Given the description of an element on the screen output the (x, y) to click on. 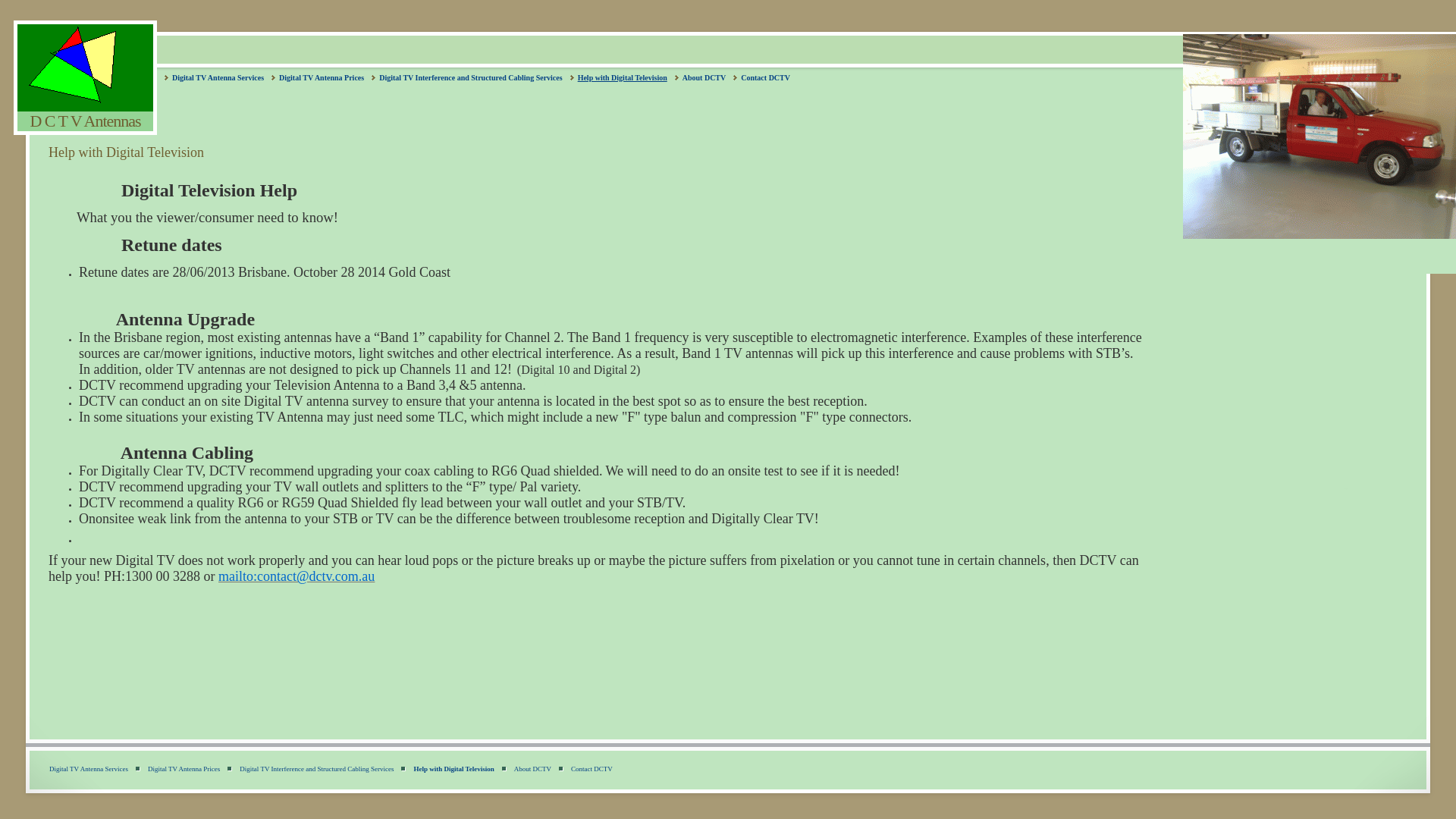
About DCTV Element type: text (532, 767)
Digital TV Antenna Prices Element type: text (321, 77)
Digital TV Antenna Prices Element type: text (183, 767)
Digital TV Antenna Services Element type: text (88, 767)
Contact DCTV Element type: text (765, 77)
Help with Digital Television Element type: text (453, 767)
Contact DCTV Element type: text (591, 767)
Digital TV Interference and Structured Cabling Services Element type: text (470, 77)
Digital TV Interference and Structured Cabling Services Element type: text (316, 767)
mailto:contact@dctv.com.au Element type: text (296, 577)
Help with Digital Television Element type: text (622, 77)
Digital TV Antenna Services Element type: text (217, 77)
About DCTV Element type: text (704, 77)
